Given the description of an element on the screen output the (x, y) to click on. 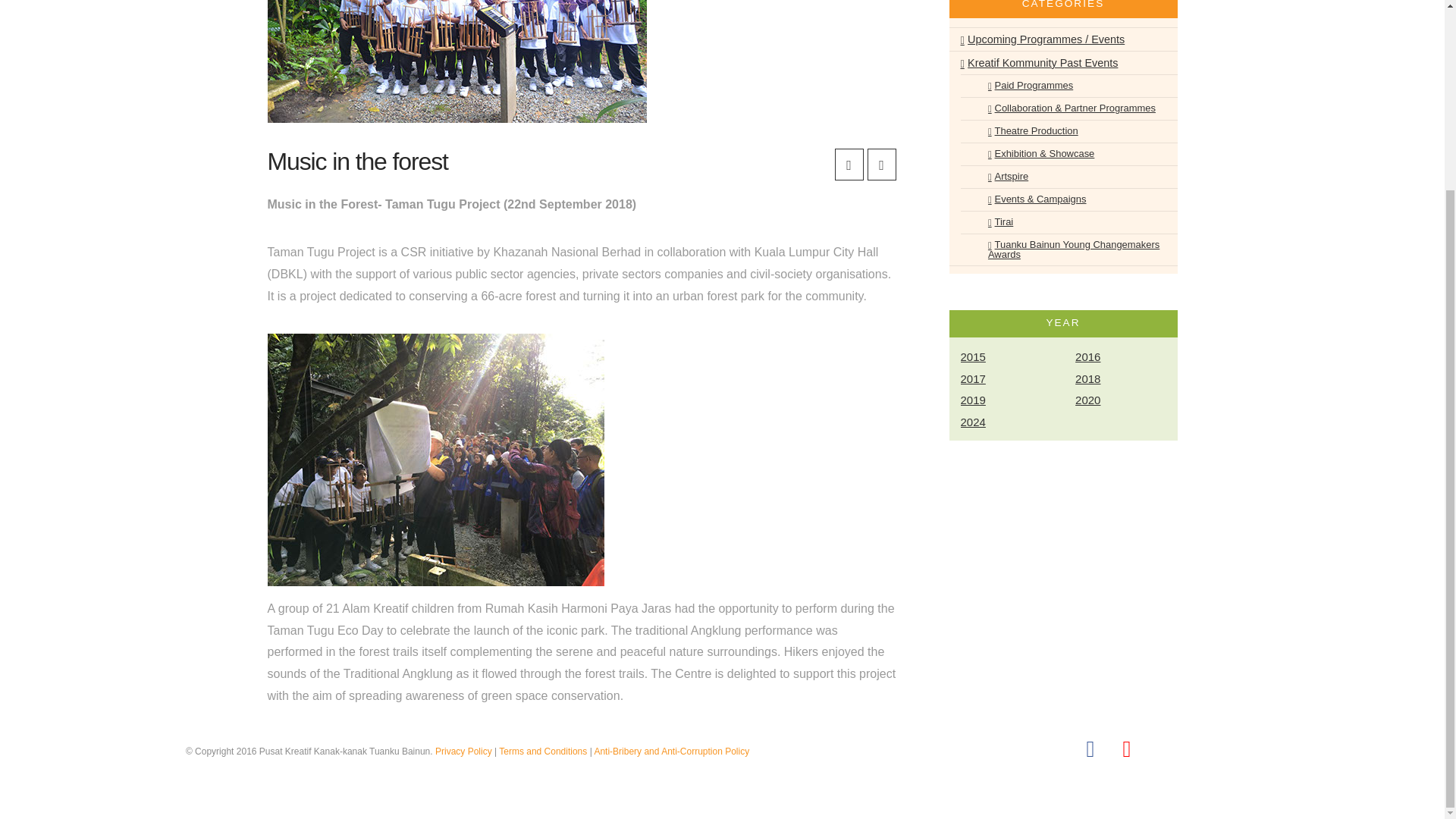
Theatre Production (1025, 131)
Artspire (1000, 177)
Tuanku Bainun Young Changemakers Awards (1074, 249)
Kreatif Kommunity Past Events (1038, 62)
Tirai (992, 222)
Paid Programmes (1023, 86)
2016 (1125, 357)
2015 (1010, 357)
